Given the description of an element on the screen output the (x, y) to click on. 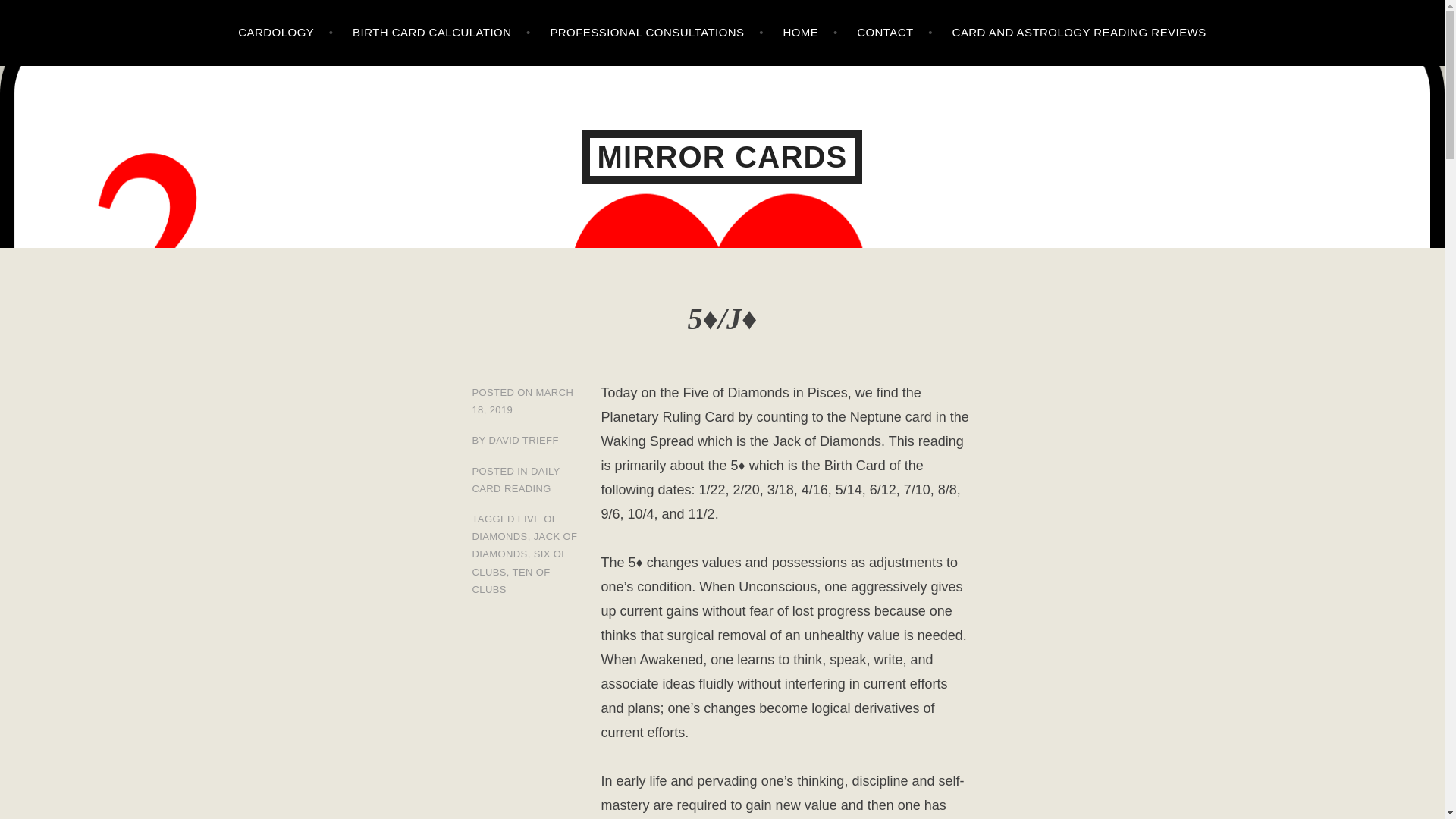
Search (42, 15)
SIX OF CLUBS (519, 562)
MIRROR CARDS (722, 156)
DAVID TRIEFF (522, 439)
HOME (810, 32)
CARD AND ASTROLOGY READING REVIEWS (1079, 32)
CONTACT (895, 32)
DAILY CARD READING (515, 480)
TEN OF CLUBS (510, 579)
JACK OF DIAMONDS (523, 544)
FIVE OF DIAMONDS (514, 527)
BIRTH CARD CALCULATION (441, 32)
PROFESSIONAL CONSULTATIONS (656, 32)
CARDOLOGY (285, 32)
MARCH 18, 2019 (522, 400)
